Given the description of an element on the screen output the (x, y) to click on. 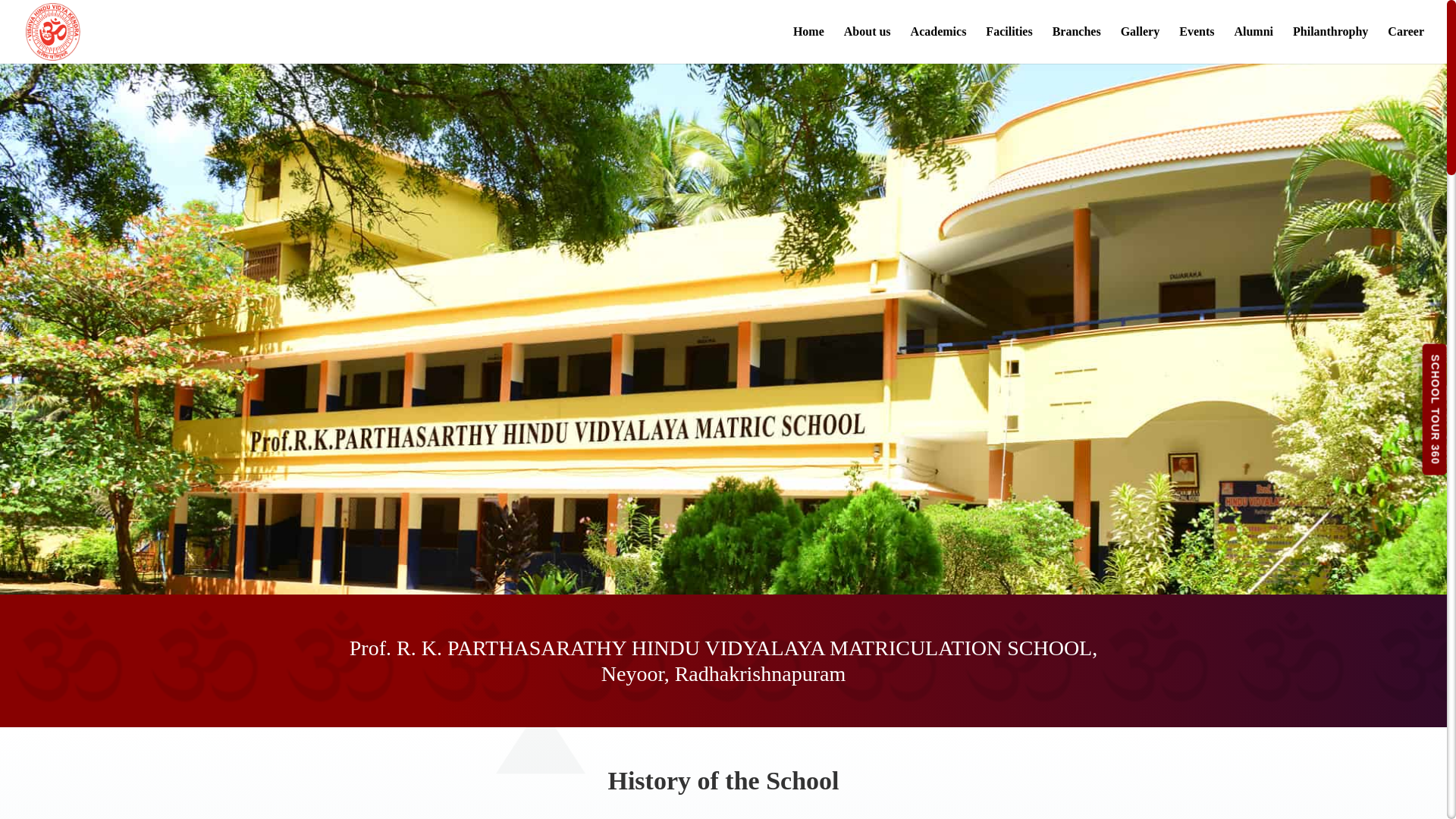
Branches (1076, 44)
About us (867, 44)
Events (1196, 44)
Facilities (1008, 44)
Career (1405, 44)
Philanthrophy (1330, 44)
Alumni (1252, 44)
Academics (938, 44)
Gallery (1140, 44)
